Given the description of an element on the screen output the (x, y) to click on. 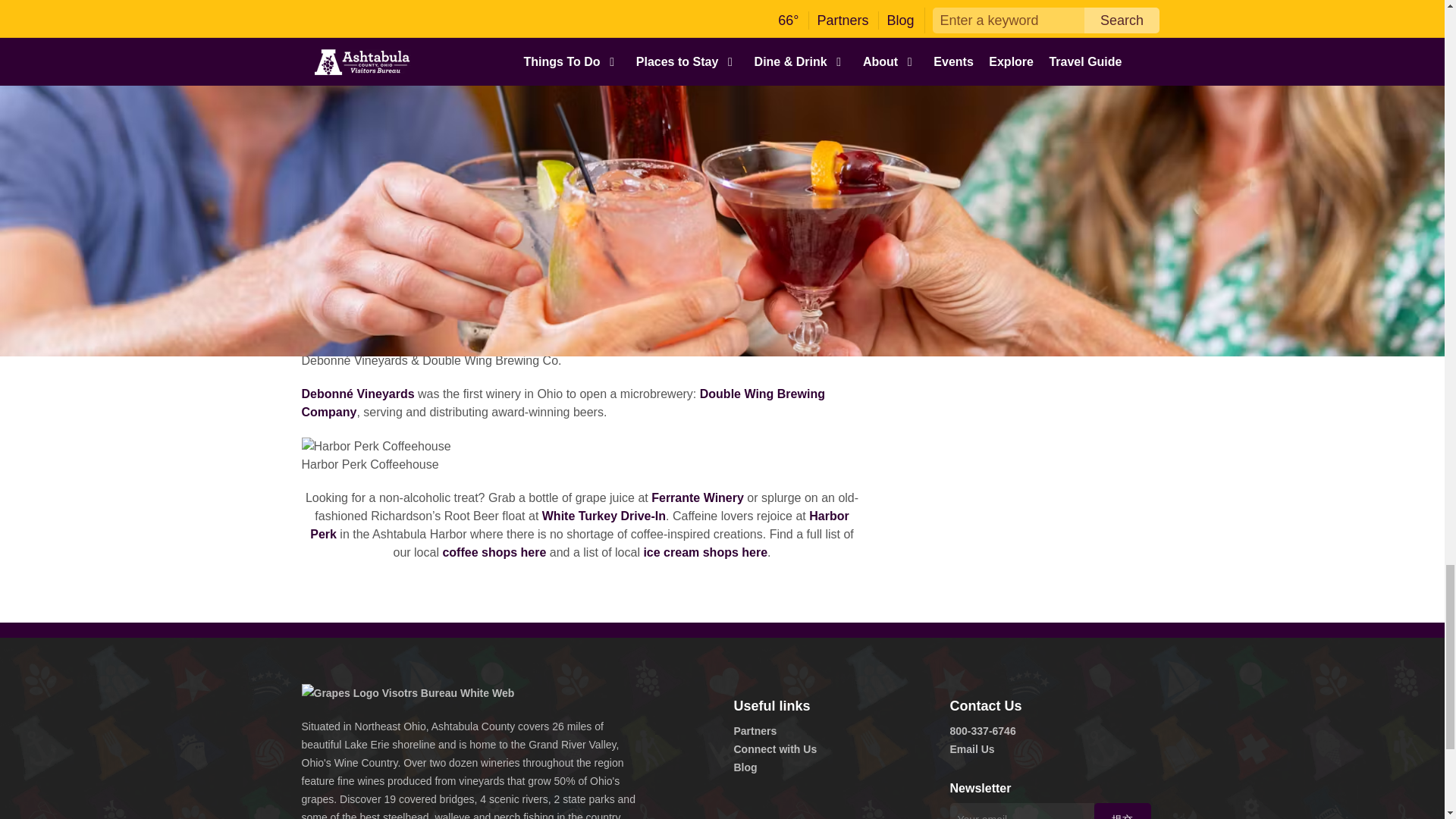
Sweets (705, 552)
Cloven Hoof Brewing Co. (363, 146)
Coffee Shops (494, 552)
Darkroom Brewing Company (605, 235)
White Turkey Drive-In (603, 515)
Double Wing Brewing Co. (563, 402)
